Given the description of an element on the screen output the (x, y) to click on. 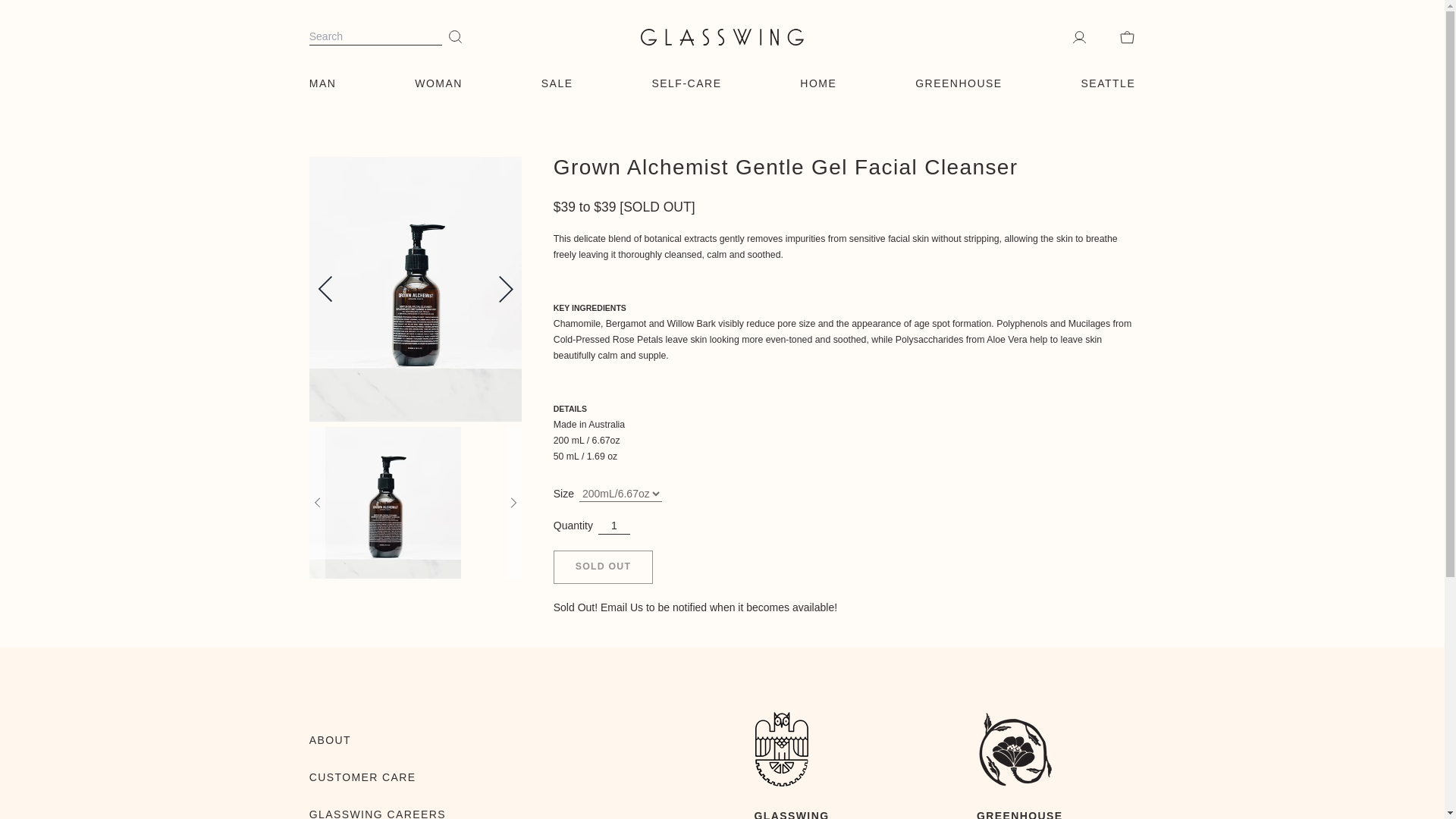
Sold Out (602, 566)
1 (614, 524)
